Given the description of an element on the screen output the (x, y) to click on. 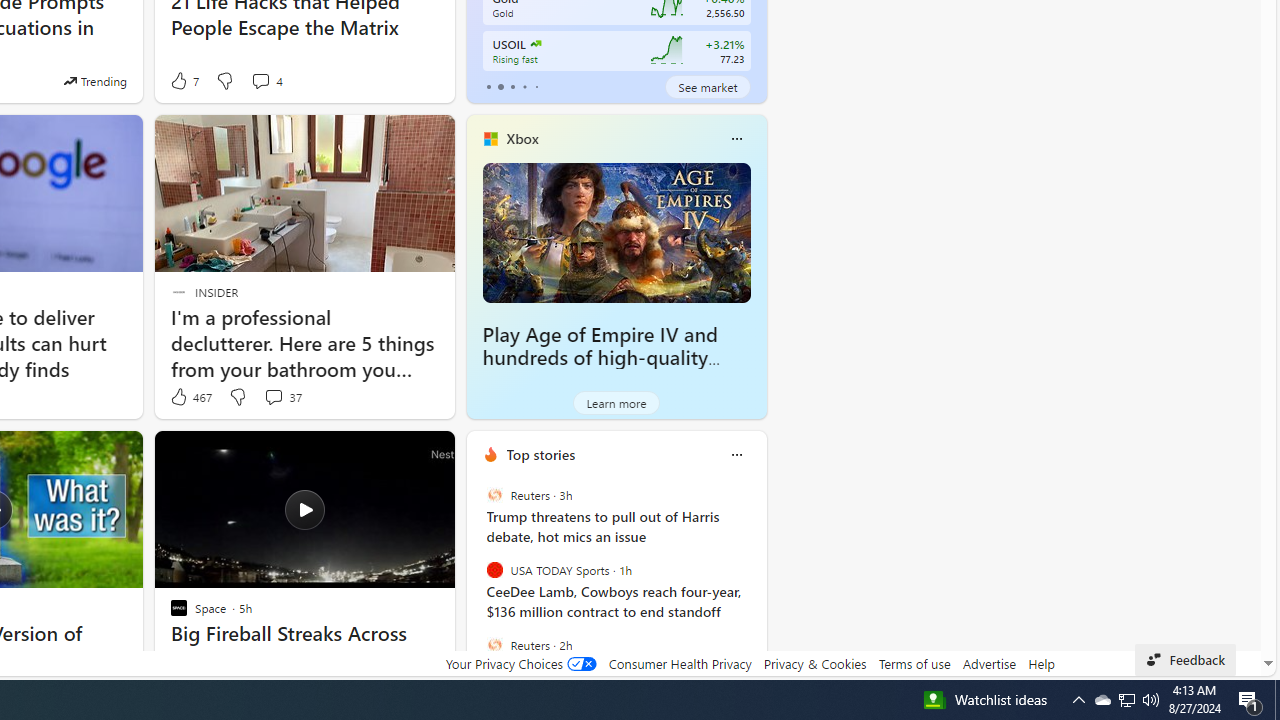
tab-4 (535, 86)
Reuters (494, 644)
tab-2 (511, 86)
next (756, 583)
Class: icon-img (736, 454)
Learn more (616, 402)
Top stories (540, 454)
Hide this story (393, 454)
tab-3 (524, 86)
View comments 4 Comment (260, 80)
